Given the description of an element on the screen output the (x, y) to click on. 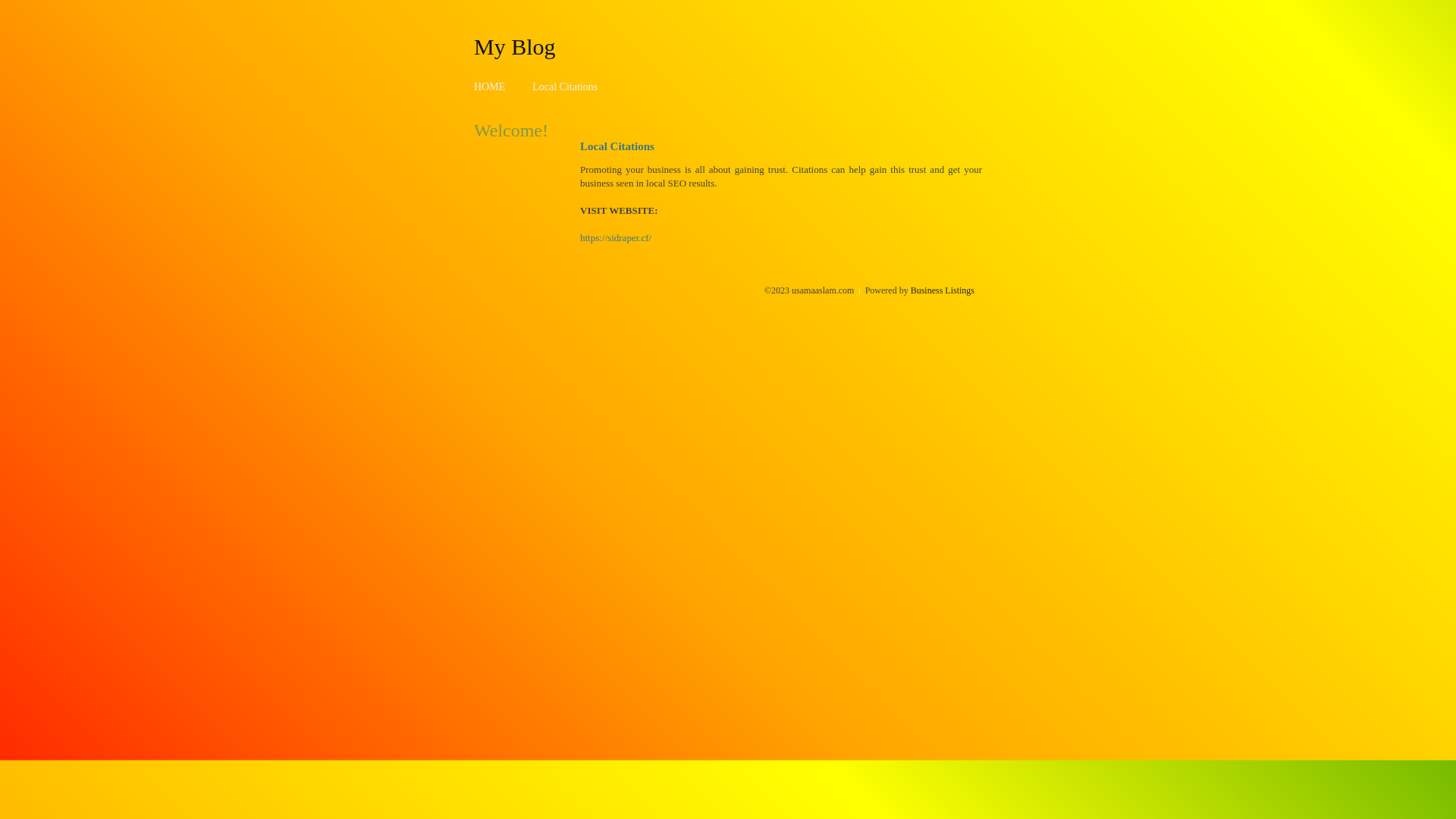
My Blog Element type: text (514, 46)
Business Listings Element type: text (942, 290)
HOME Element type: text (489, 86)
Local Citations Element type: text (564, 86)
https://sidraper.cf/ Element type: text (615, 237)
